Given the description of an element on the screen output the (x, y) to click on. 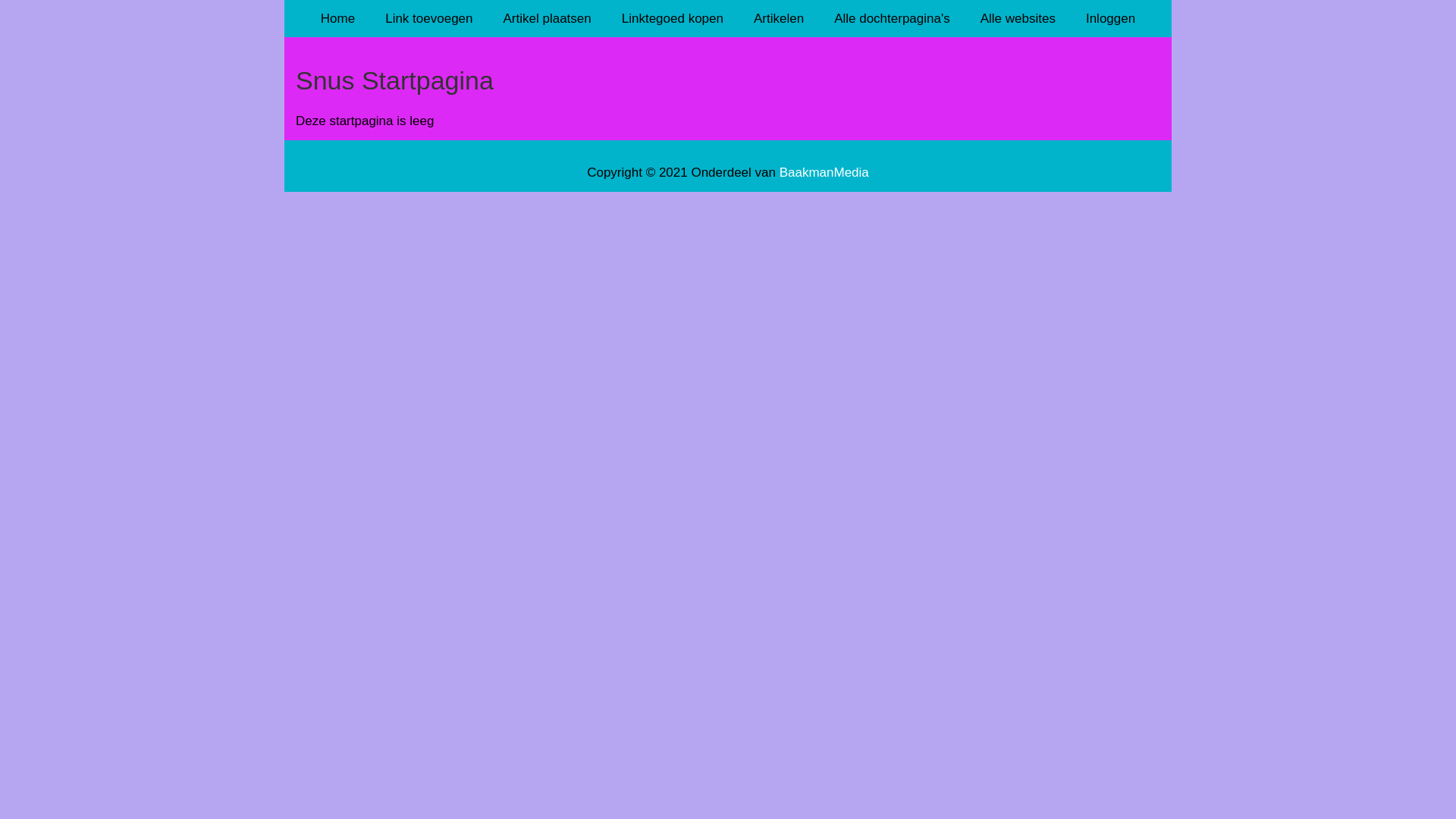
Inloggen Element type: text (1110, 18)
Home Element type: text (337, 18)
Alle dochterpagina's Element type: text (892, 18)
Snus Startpagina Element type: text (727, 96)
Alle websites Element type: text (1017, 18)
Artikel plaatsen Element type: text (547, 18)
Linktegoed kopen Element type: text (672, 18)
Link toevoegen Element type: text (428, 18)
Artikelen Element type: text (778, 18)
BaakmanMedia Element type: text (824, 172)
